Given the description of an element on the screen output the (x, y) to click on. 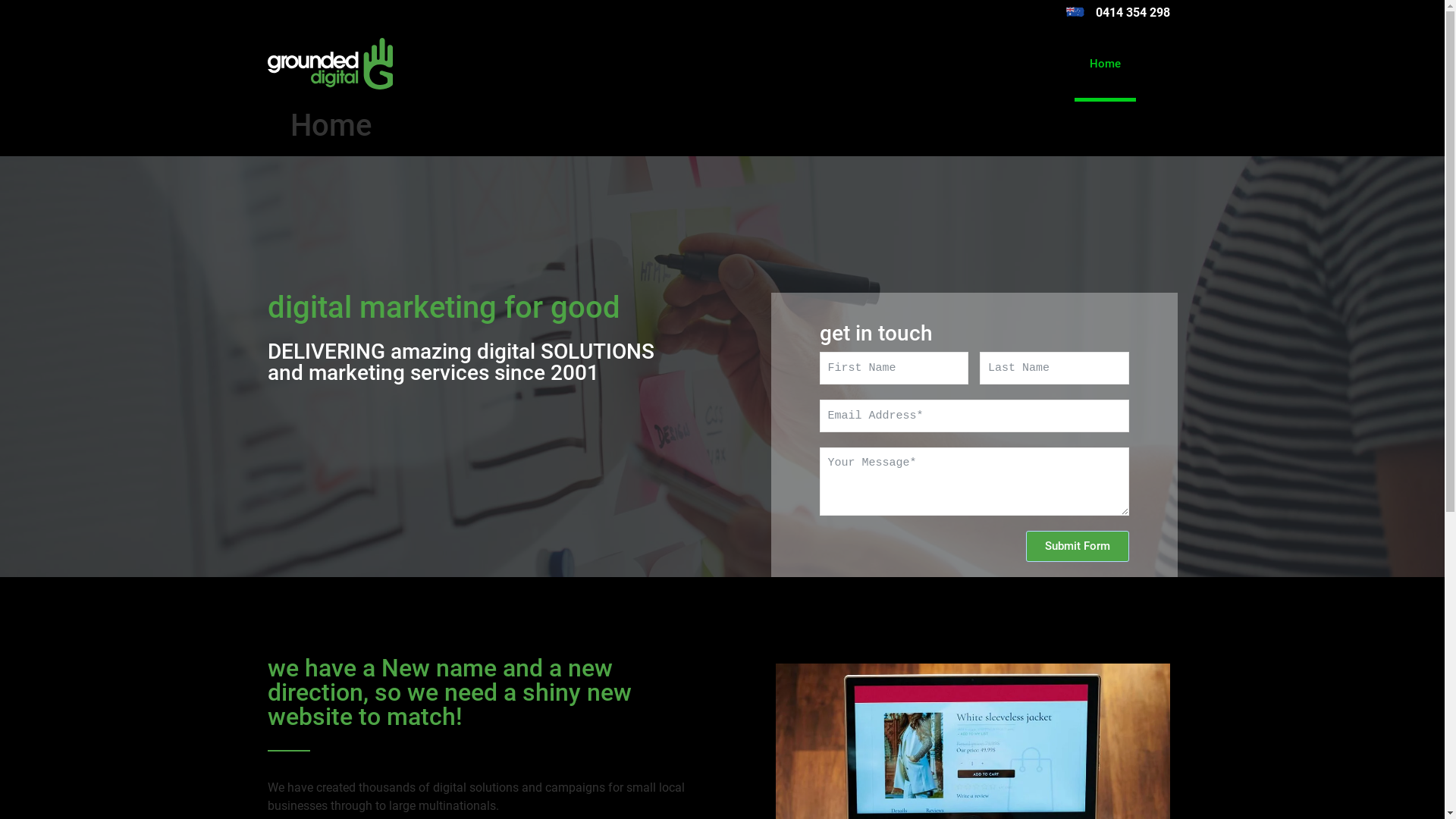
Submit Form Element type: text (1076, 545)
Home Element type: text (1104, 63)
